Given the description of an element on the screen output the (x, y) to click on. 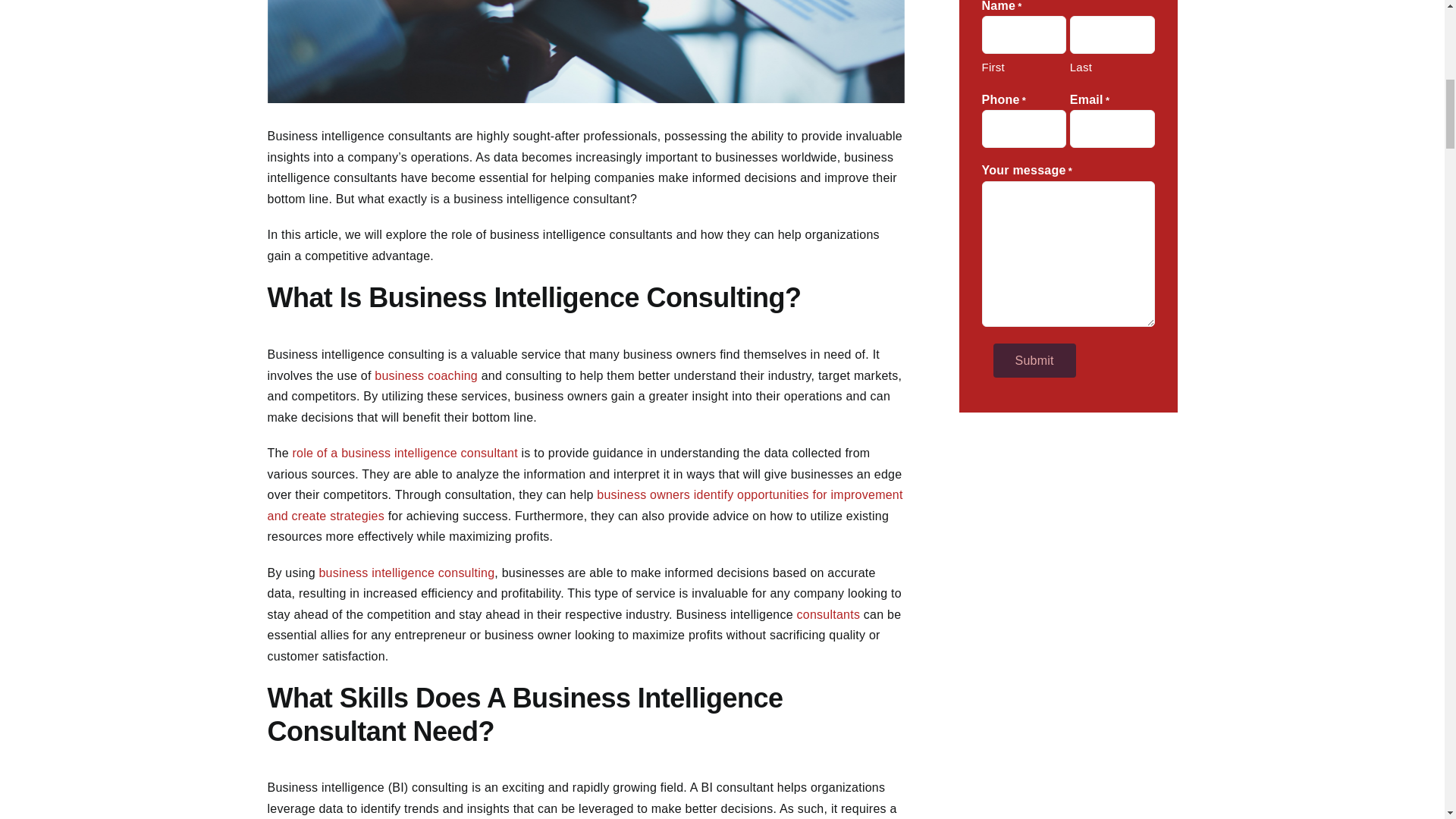
Submit (1033, 360)
View Larger Image (585, 51)
business intelligence consulting (406, 572)
business coaching (425, 375)
consultants (828, 614)
role of a business intelligence consultant (404, 452)
